Given the description of an element on the screen output the (x, y) to click on. 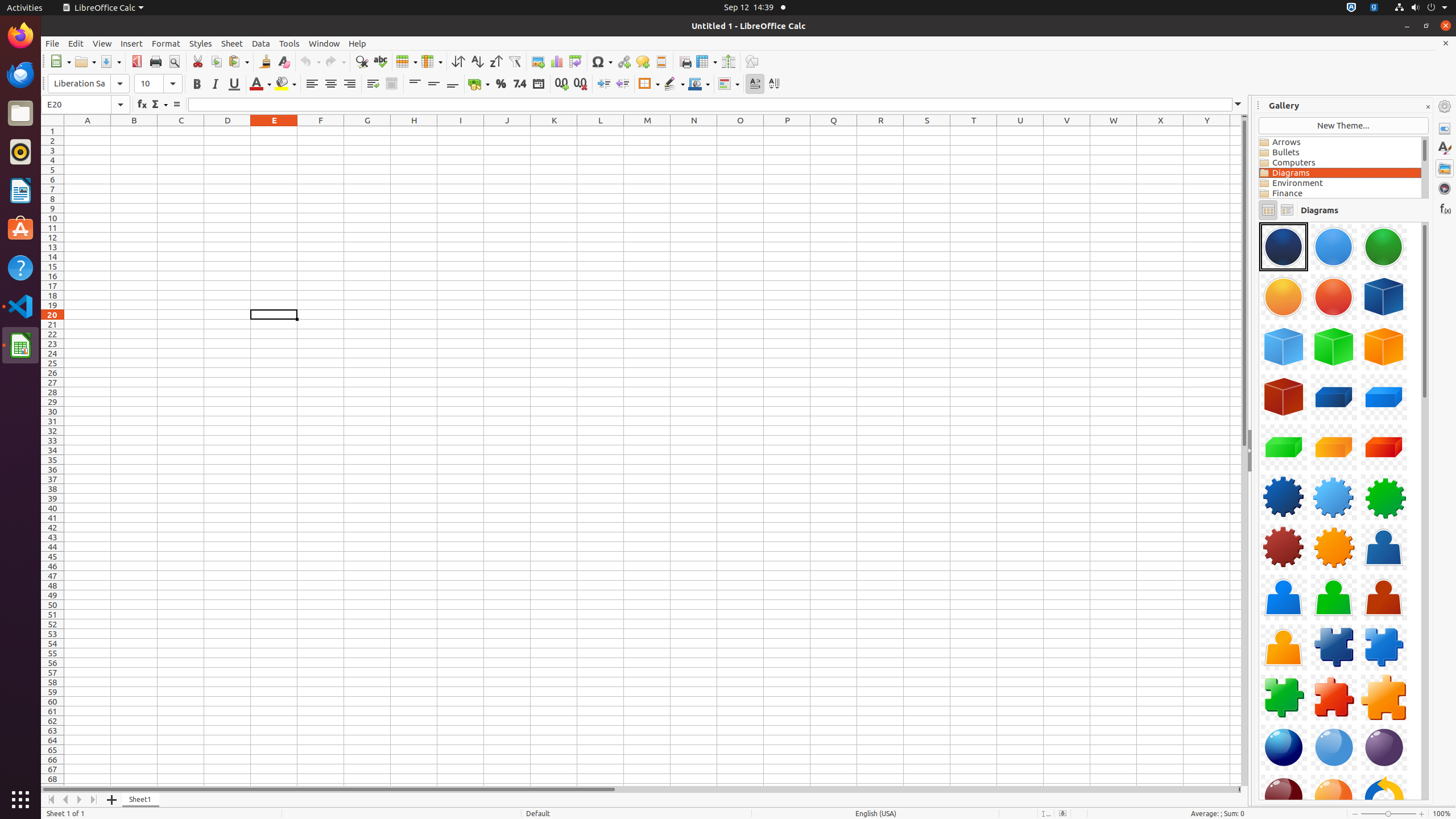
Font Size Element type: combo-box (158, 83)
Expand Formula Bar Element type: push-button (1237, 104)
Align Center Element type: push-button (330, 83)
Align Bottom Element type: push-button (452, 83)
Save Element type: push-button (109, 61)
